Given the description of an element on the screen output the (x, y) to click on. 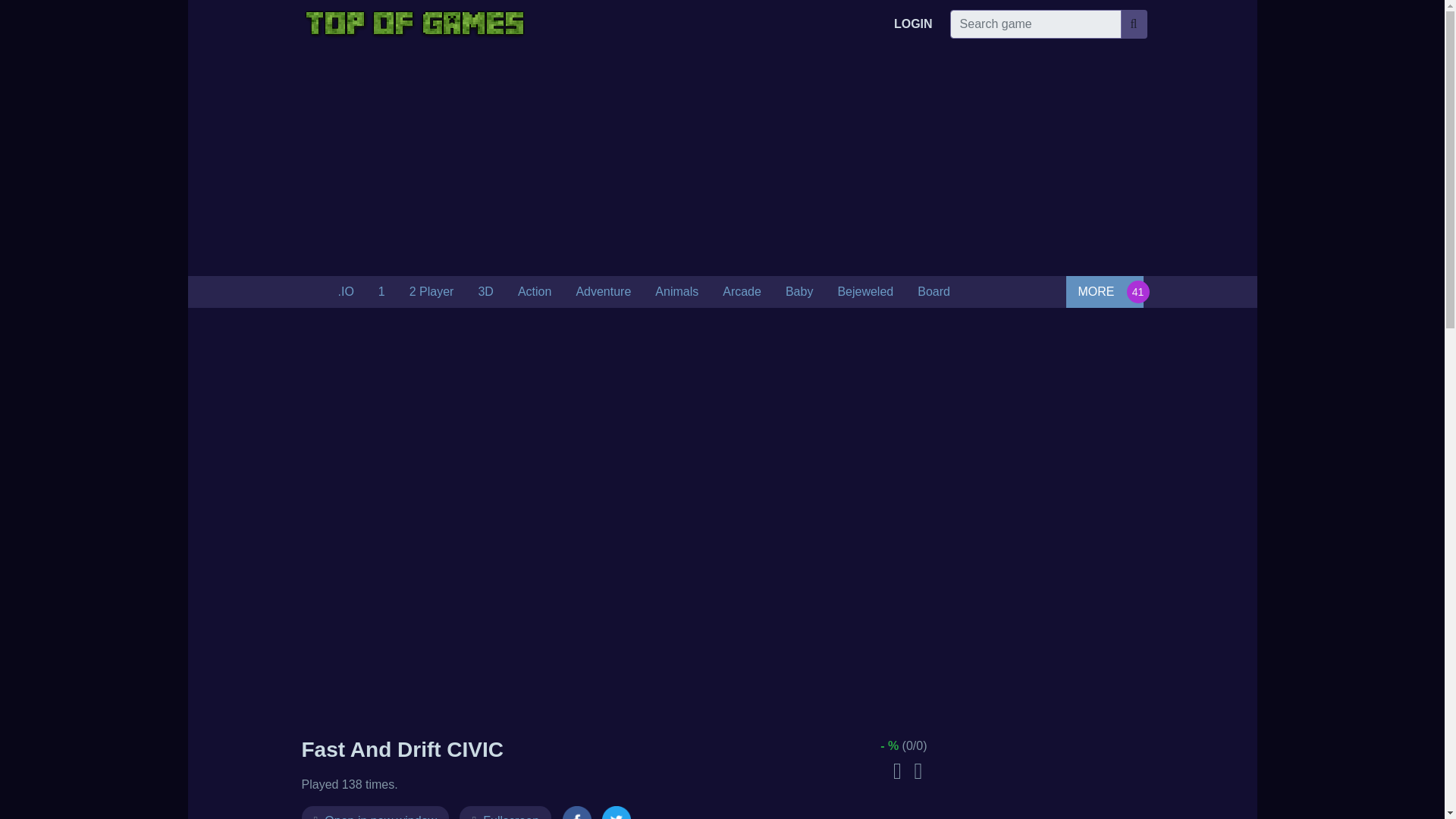
2 Player (431, 291)
Baby (799, 291)
3D (485, 291)
.IO (346, 291)
LOGIN (913, 24)
Action (534, 291)
MORE (1103, 291)
Adventure (603, 291)
Bejeweled (865, 291)
